Given the description of an element on the screen output the (x, y) to click on. 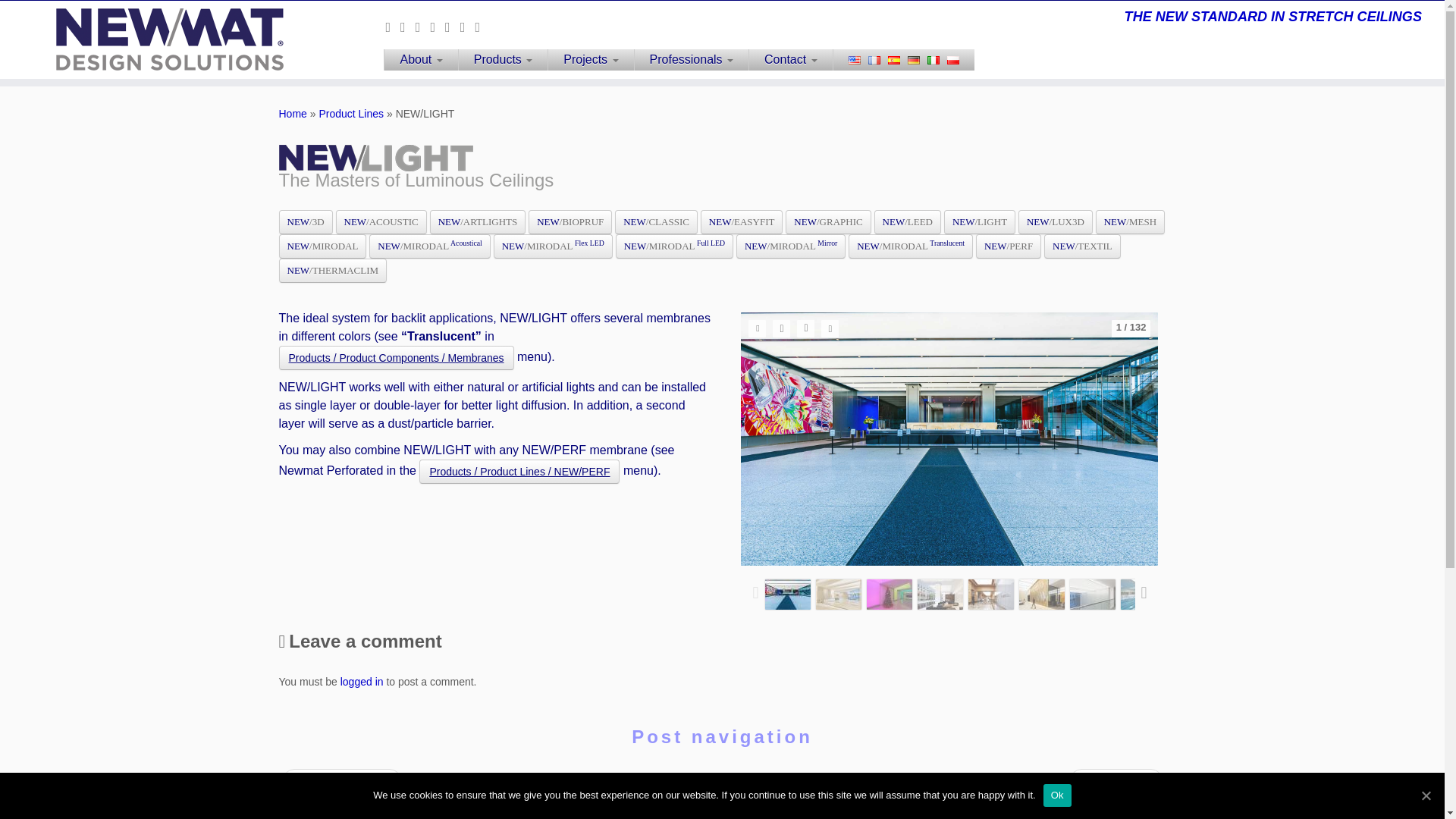
Follow us on Twitter (407, 27)
Italiano (933, 60)
Follow us on Linkedin (452, 27)
Polski (953, 60)
Professionals (691, 59)
Follow us on Youtube (437, 27)
Contact (790, 59)
About (420, 59)
Follow us on Facebook (422, 27)
English (854, 60)
Projects (590, 59)
Follow us on Pinterest (468, 27)
Follow us on Instagram (481, 27)
Follow us on Rss (392, 27)
